Given the description of an element on the screen output the (x, y) to click on. 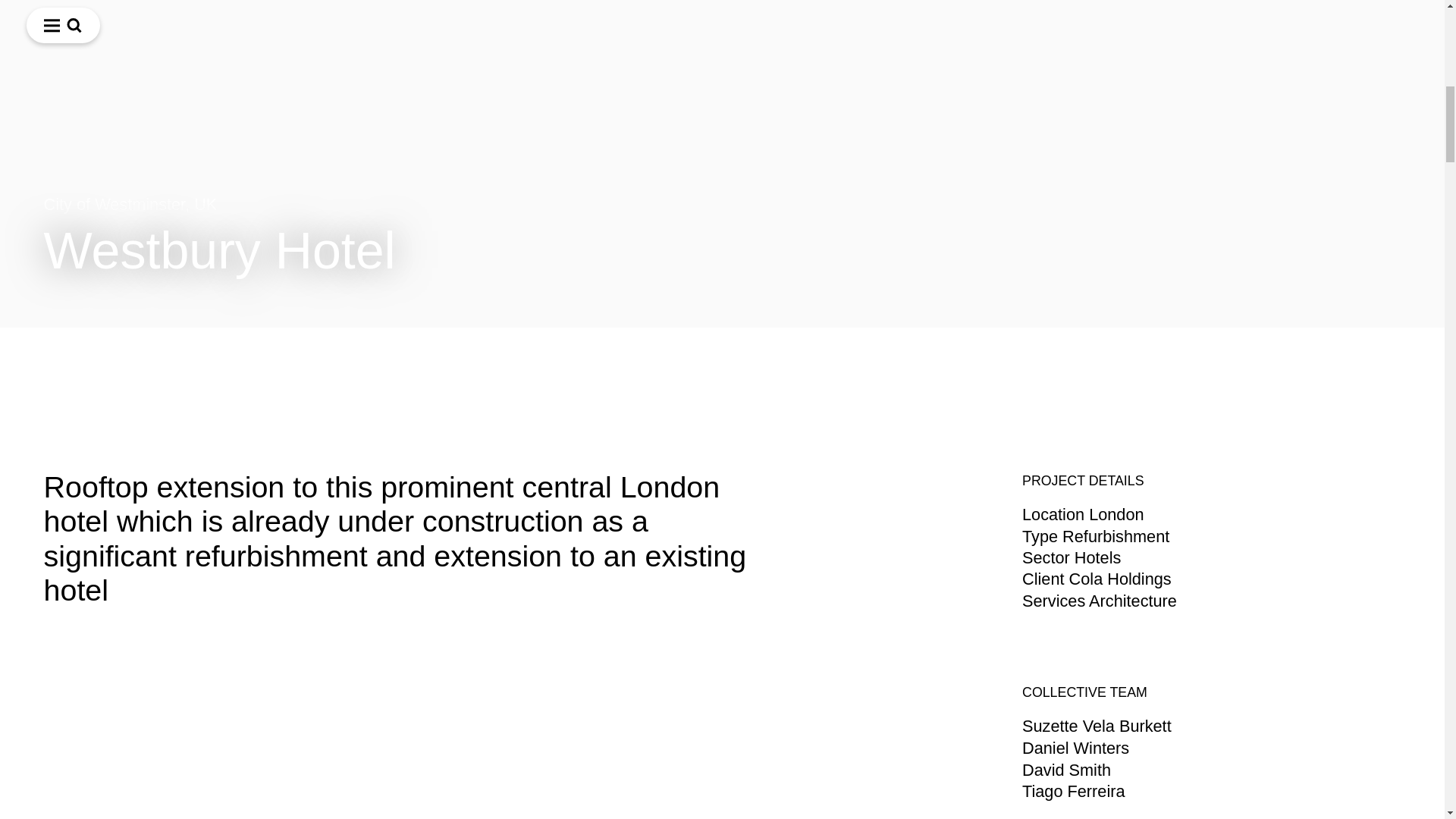
News (259, 601)
Projects (259, 567)
Contact (716, 567)
London (1172, 431)
Russia (93, 6)
LinkedIn (69, 815)
Dubai (1172, 567)
What We Offer (259, 465)
Frankfurt (1172, 499)
Our People (259, 533)
Aukett Swanke Group (633, 784)
Instagram (73, 783)
Istanbul (1172, 533)
Disclaimer (532, 801)
Our Culture (259, 499)
